Given the description of an element on the screen output the (x, y) to click on. 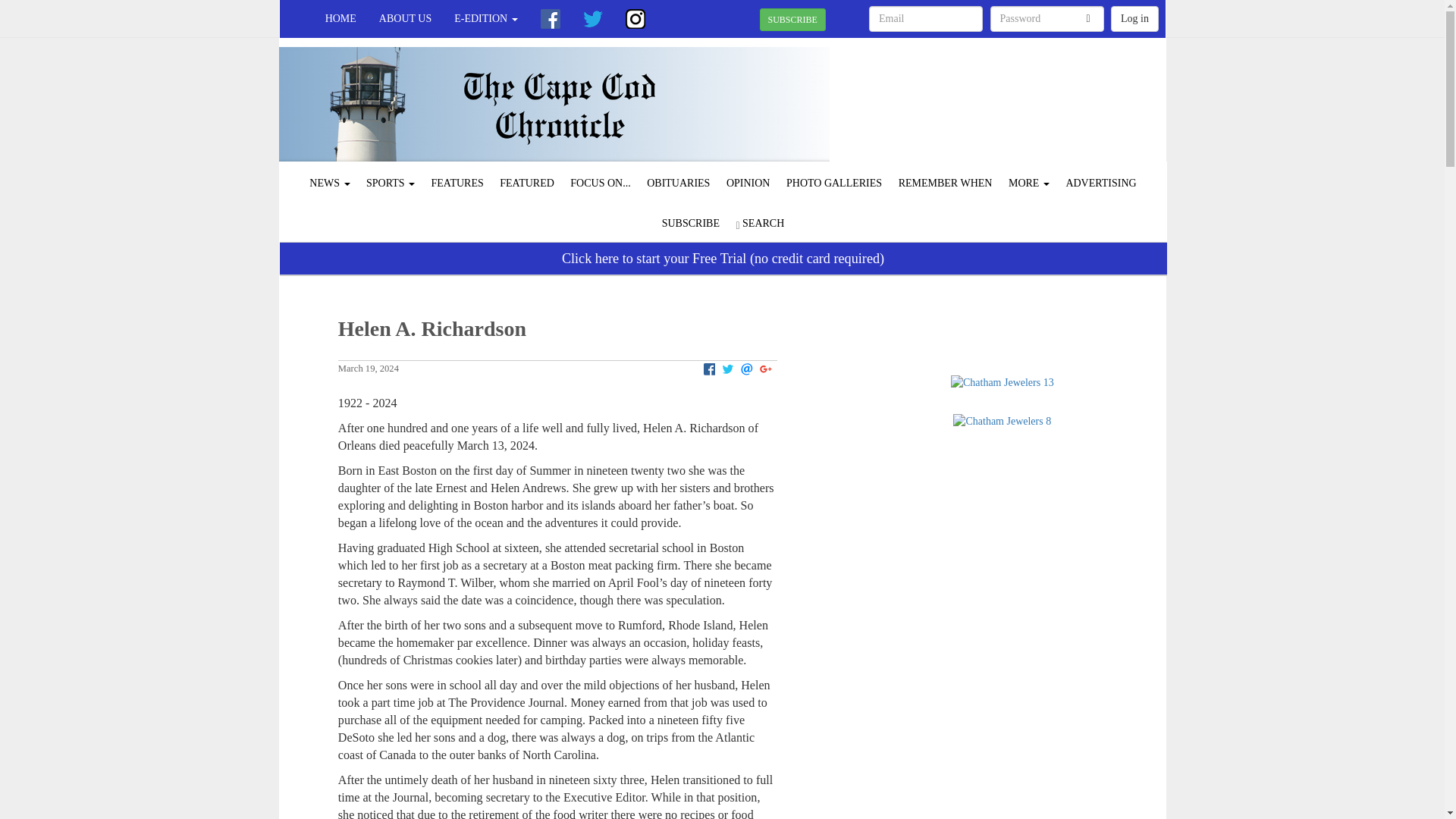
Instagram (635, 18)
HOME (341, 18)
Weather Widget (1027, 110)
Facebook (550, 18)
Show password (1088, 18)
ABOUT US (405, 18)
Log in (1134, 18)
E-EDITION (485, 18)
Twitter (593, 18)
